Given the description of an element on the screen output the (x, y) to click on. 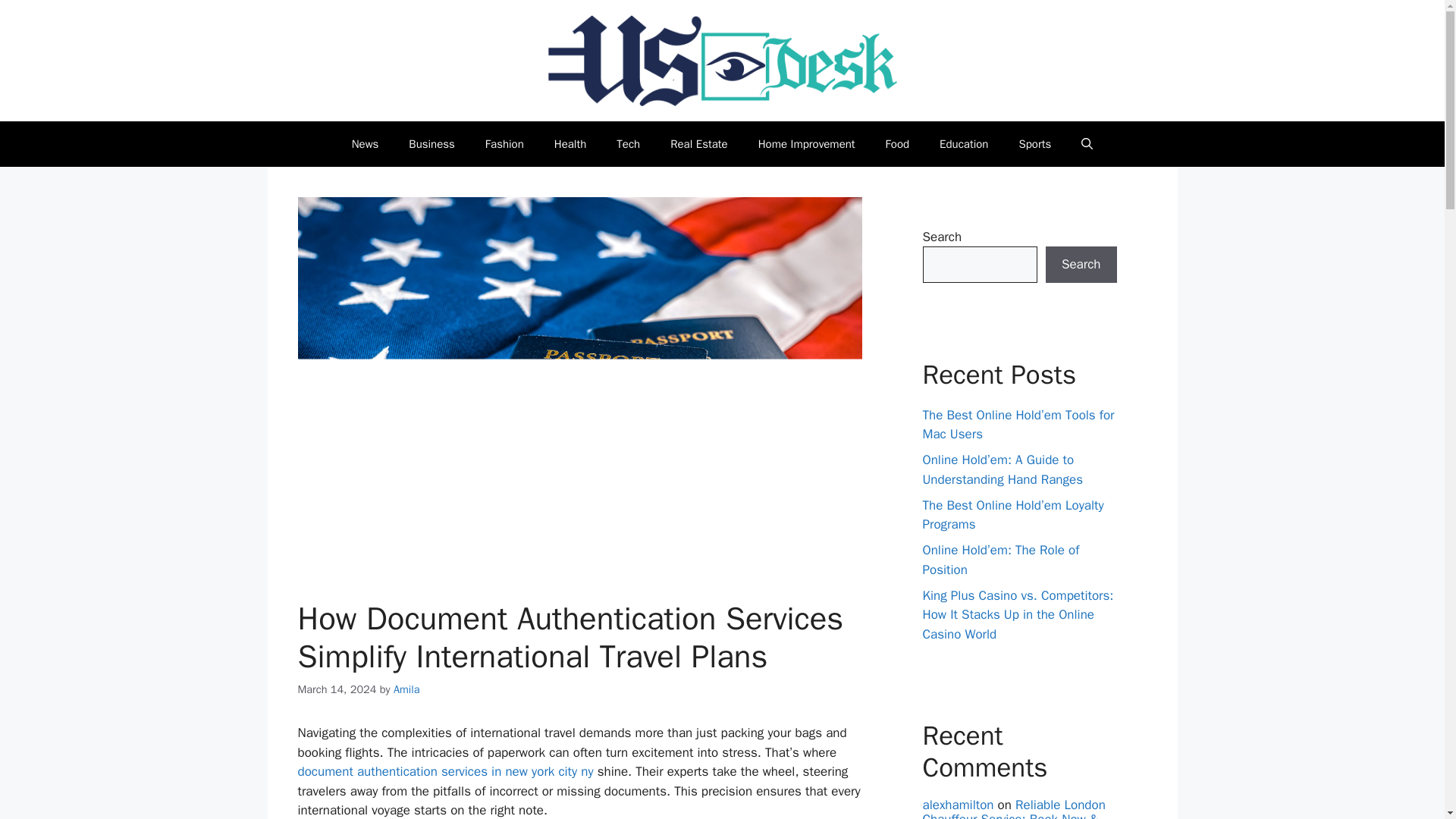
Business (431, 144)
alexhamilton (956, 804)
View all posts by Amila (406, 689)
News (365, 144)
Home Improvement (806, 144)
Education (963, 144)
Amila (406, 689)
Sports (1034, 144)
Tech (628, 144)
